Given the description of an element on the screen output the (x, y) to click on. 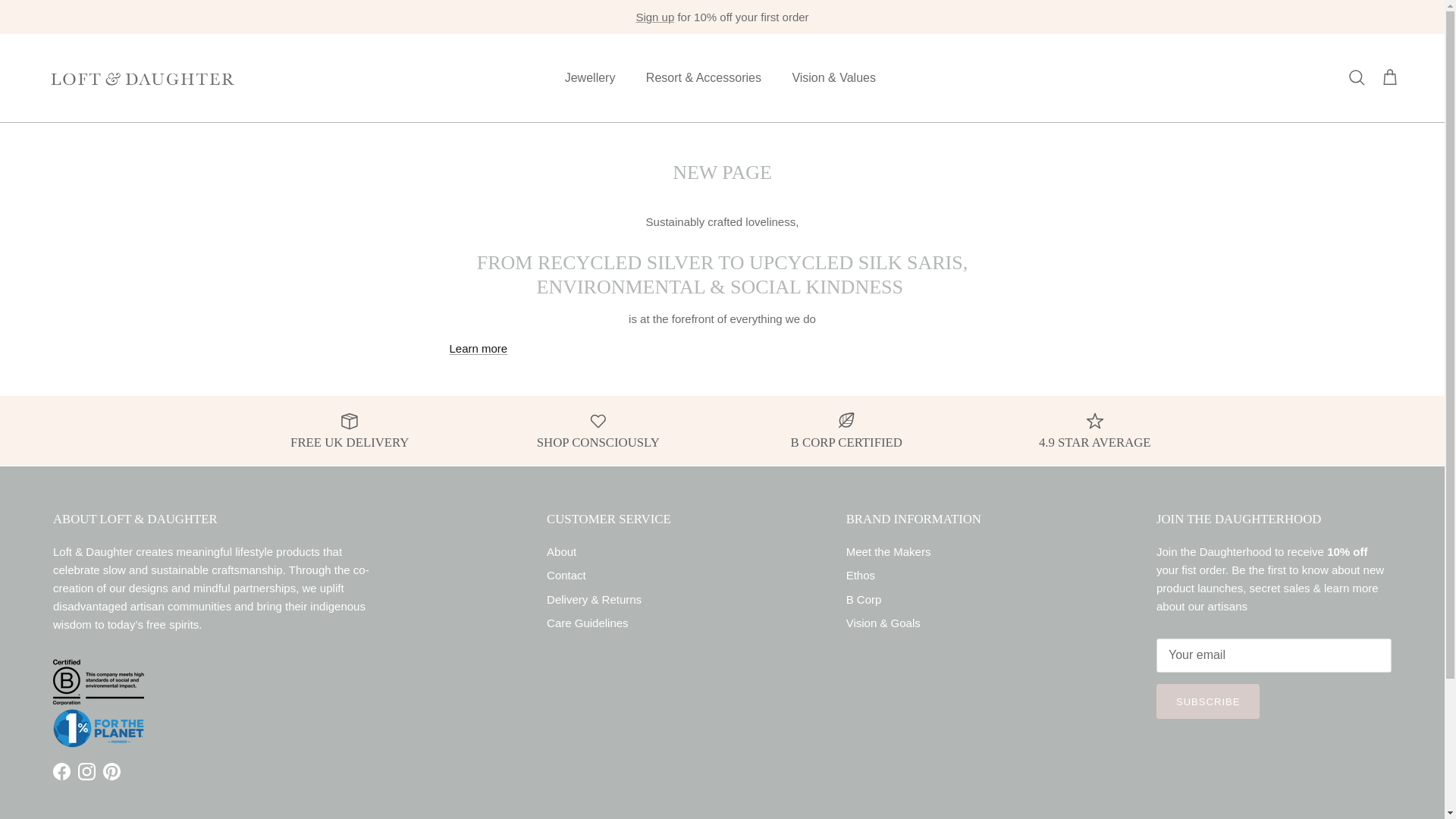
Jewellery (589, 78)
Bag (1389, 77)
Sign up (654, 16)
Search (1356, 77)
Sign up (654, 16)
